Given the description of an element on the screen output the (x, y) to click on. 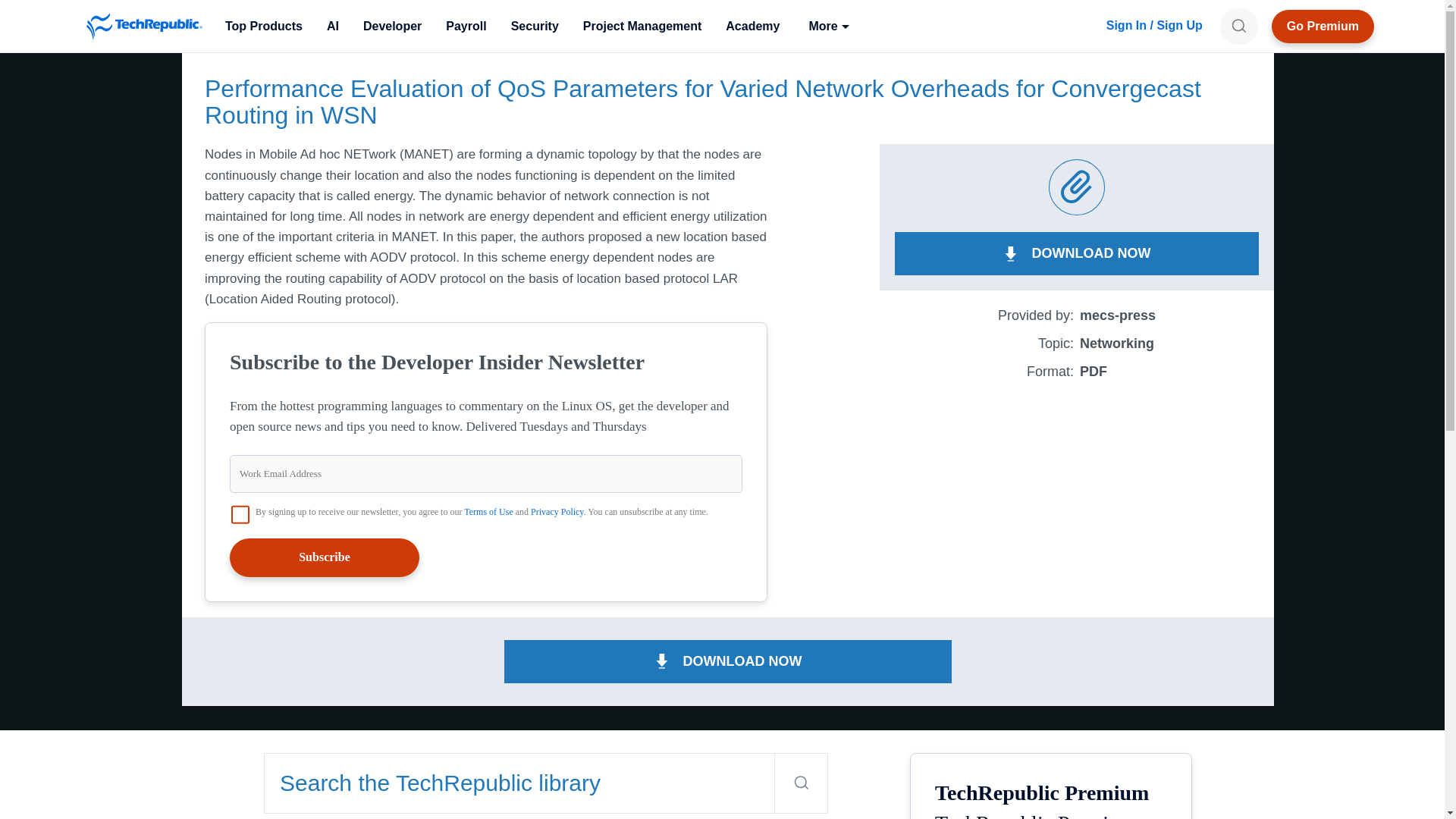
TechRepublic (143, 25)
on (239, 515)
Payroll (465, 26)
Privacy Policy (557, 511)
Terms of Use (488, 511)
DOWNLOAD NOW (727, 661)
TechRepublic (143, 25)
TechRepublic (143, 25)
Security (534, 26)
Top Products (263, 26)
Go Premium (1322, 25)
Project Management (641, 26)
Developer (392, 26)
DOWNLOAD NOW (1077, 253)
Academy (752, 26)
